Given the description of an element on the screen output the (x, y) to click on. 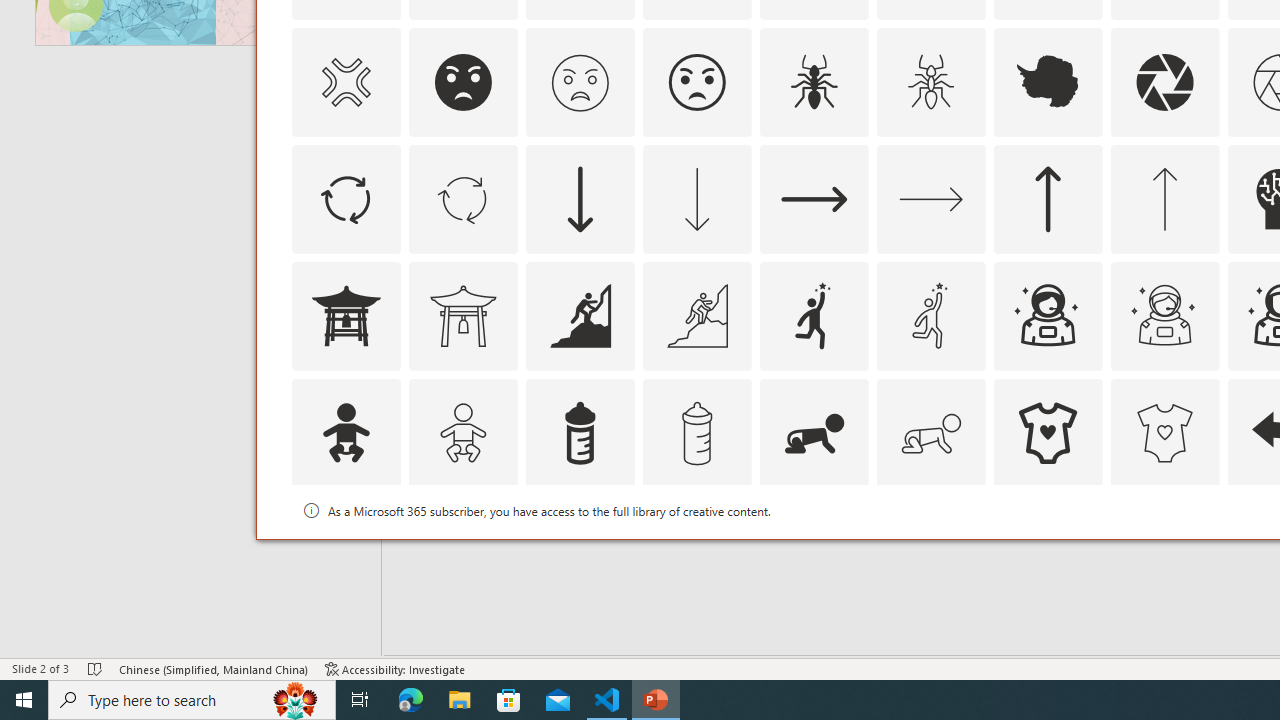
AutomationID: Icons_AngryFace (463, 82)
AutomationID: Icons_ArrowUp_M (1164, 198)
AutomationID: Icons_AngryFace_Outline (696, 82)
AutomationID: Icons_Badge4_M (1048, 550)
AutomationID: Icons_BabyBottle_M (696, 432)
AutomationID: Icons_BabyCrawling (813, 432)
